Given the description of an element on the screen output the (x, y) to click on. 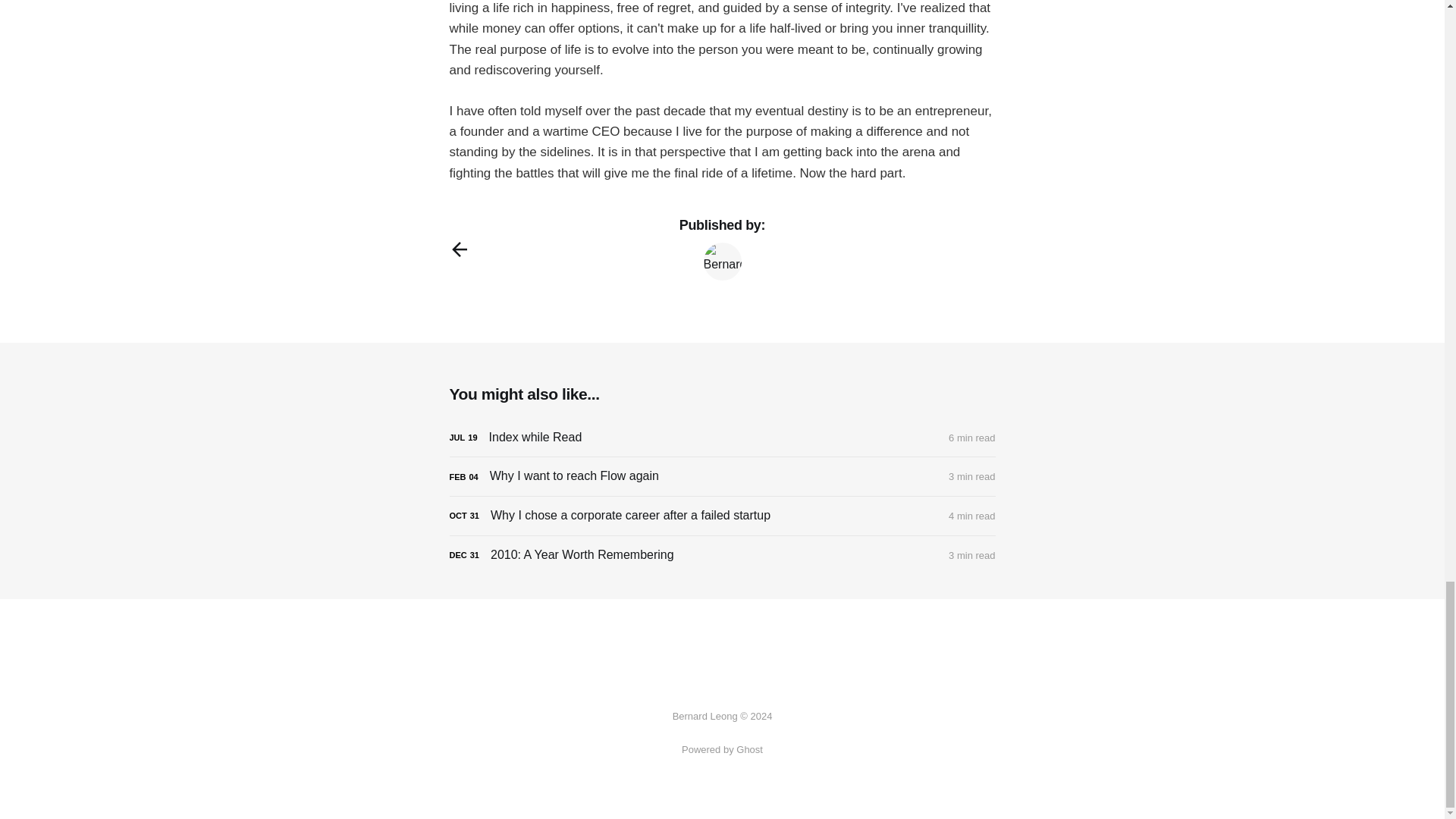
Powered by Ghost (721, 749)
